Given the description of an element on the screen output the (x, y) to click on. 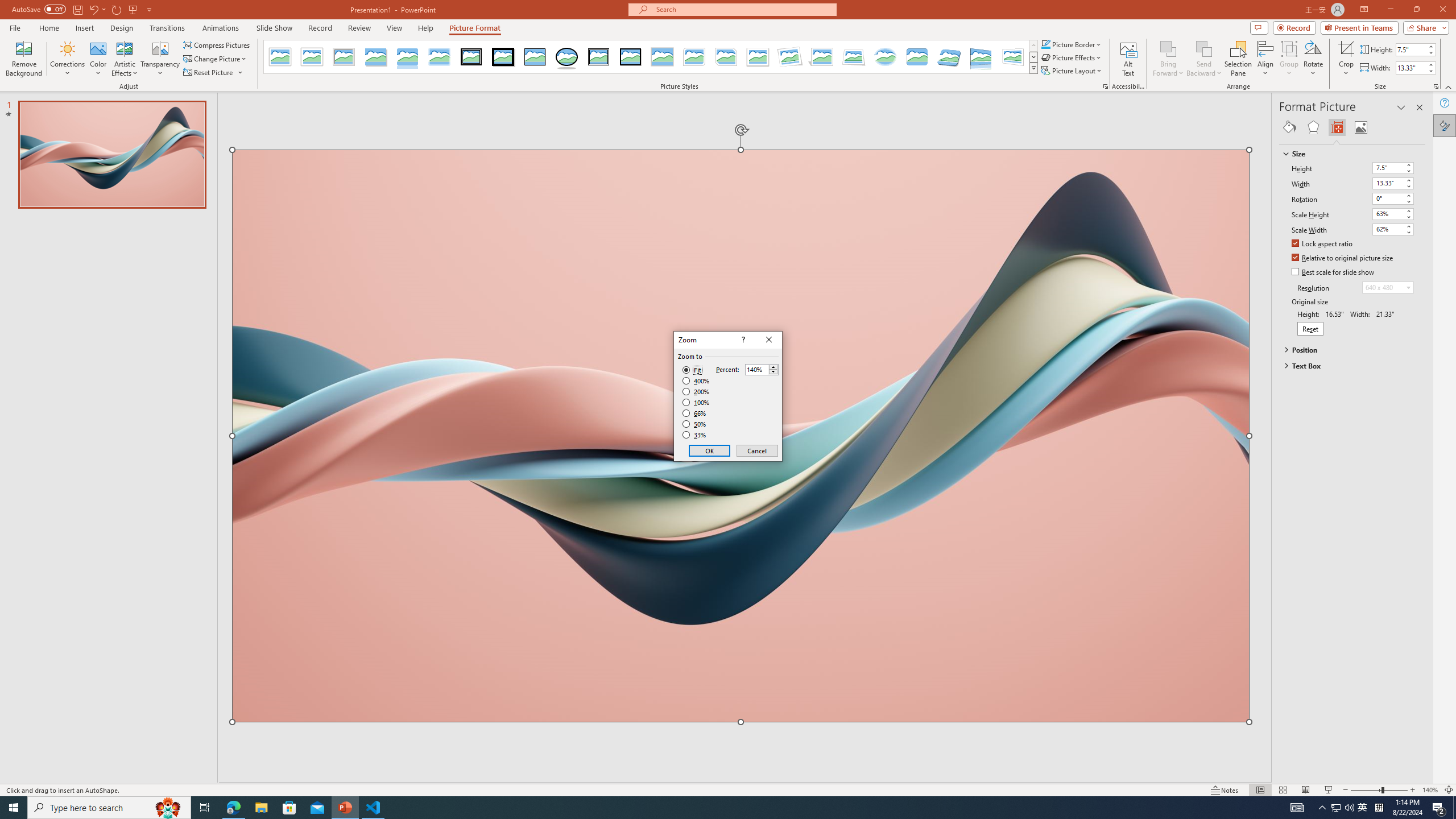
Best scale for slide show (1333, 272)
Effects (1313, 126)
100% (696, 402)
Reset Picture (208, 72)
Height (1388, 167)
Size and Position... (1435, 85)
Scale Width (1393, 229)
